Given the description of an element on the screen output the (x, y) to click on. 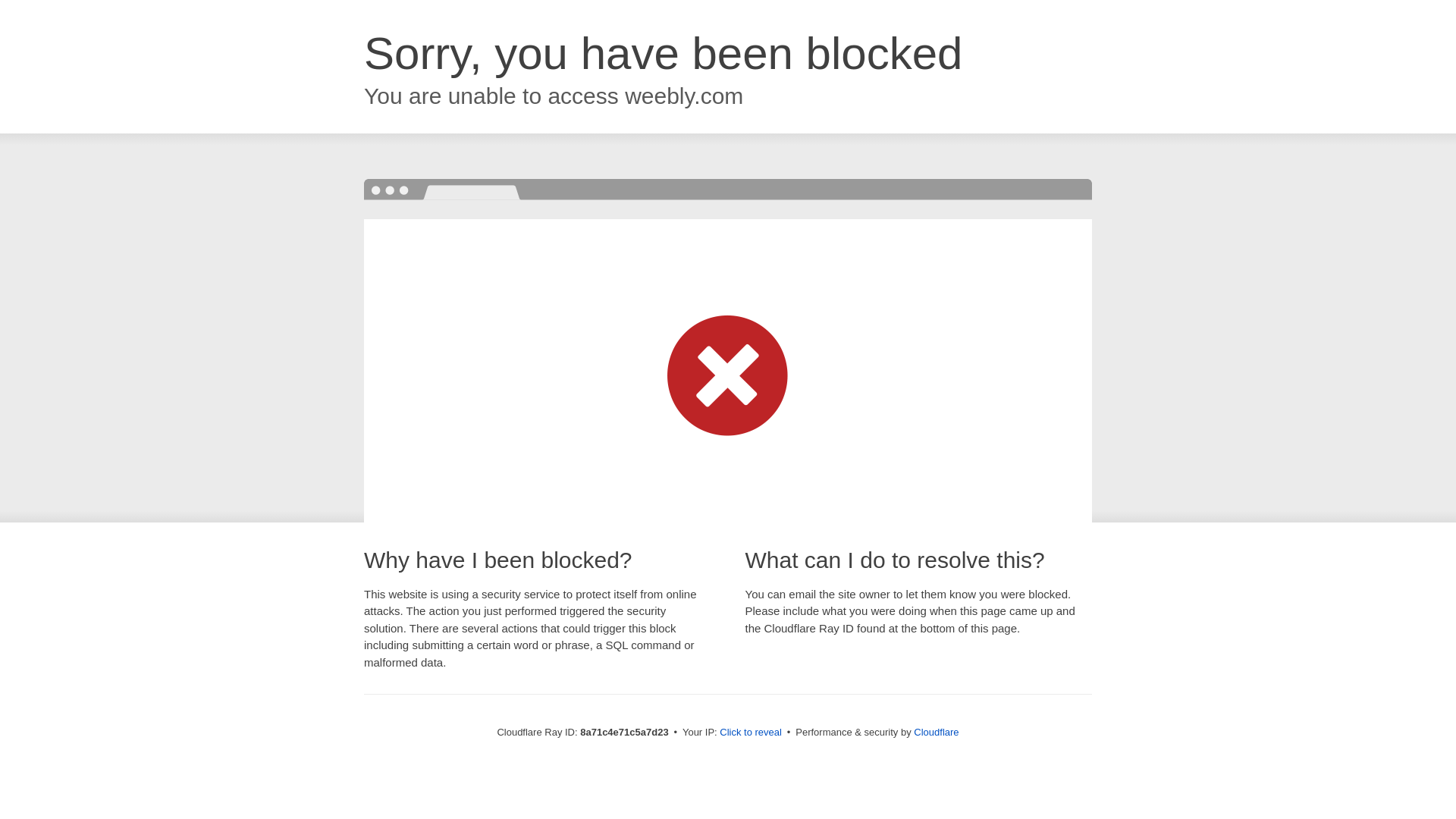
Cloudflare (936, 731)
Click to reveal (750, 732)
